Given the description of an element on the screen output the (x, y) to click on. 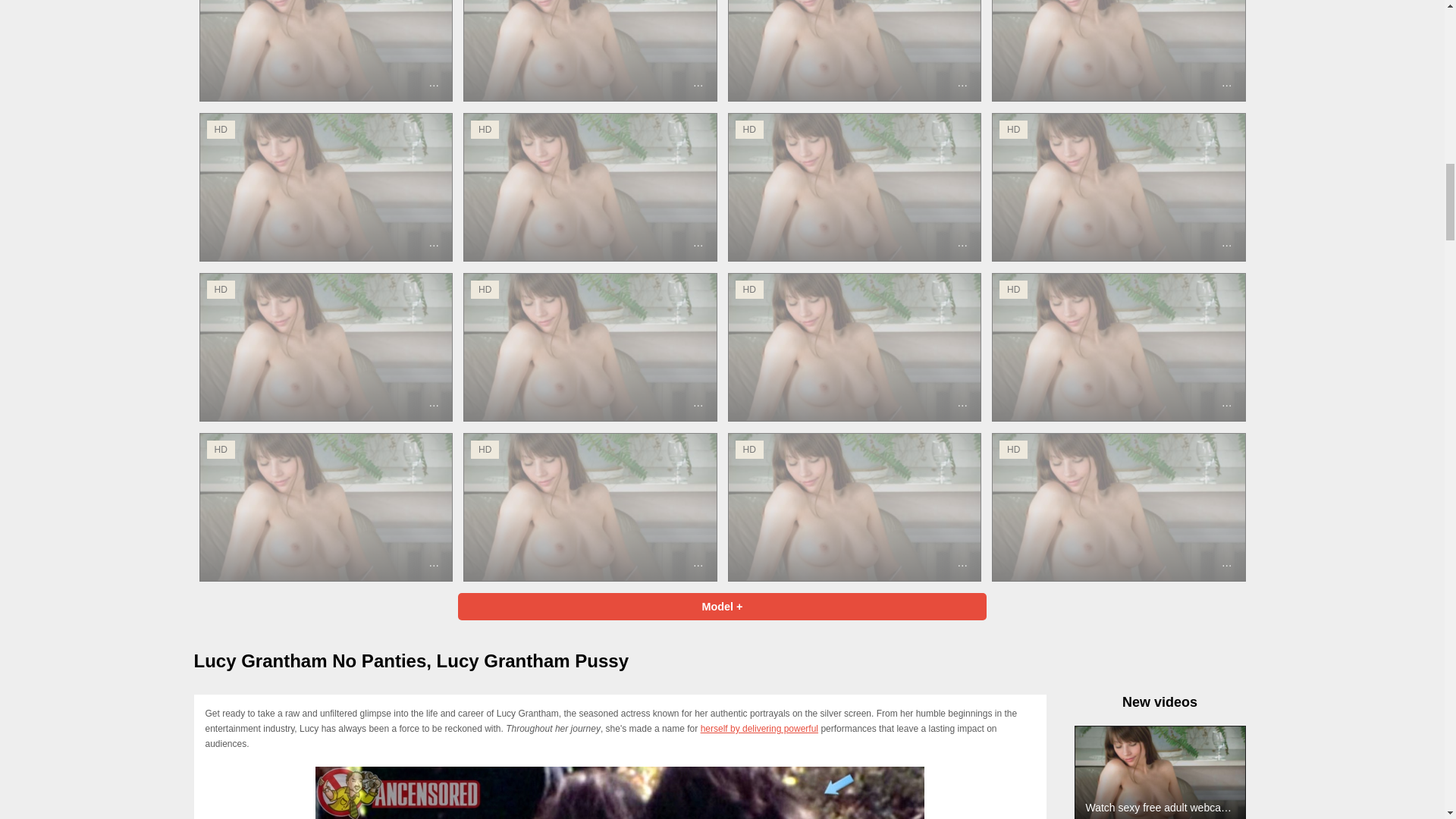
Lucy Grantham naked breasts 64 (619, 792)
